Given the description of an element on the screen output the (x, y) to click on. 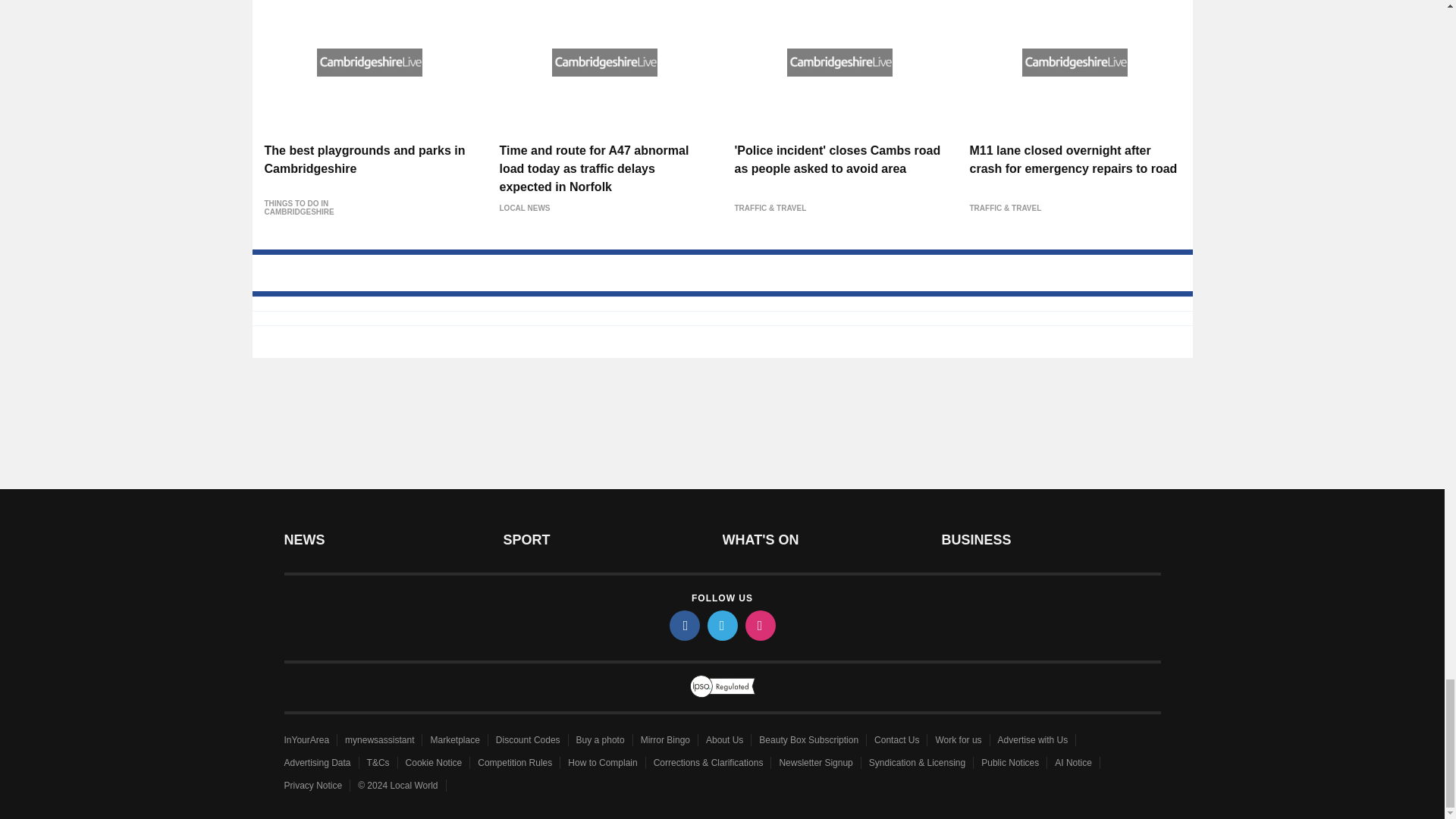
twitter (721, 625)
facebook (683, 625)
instagram (759, 625)
